Given the description of an element on the screen output the (x, y) to click on. 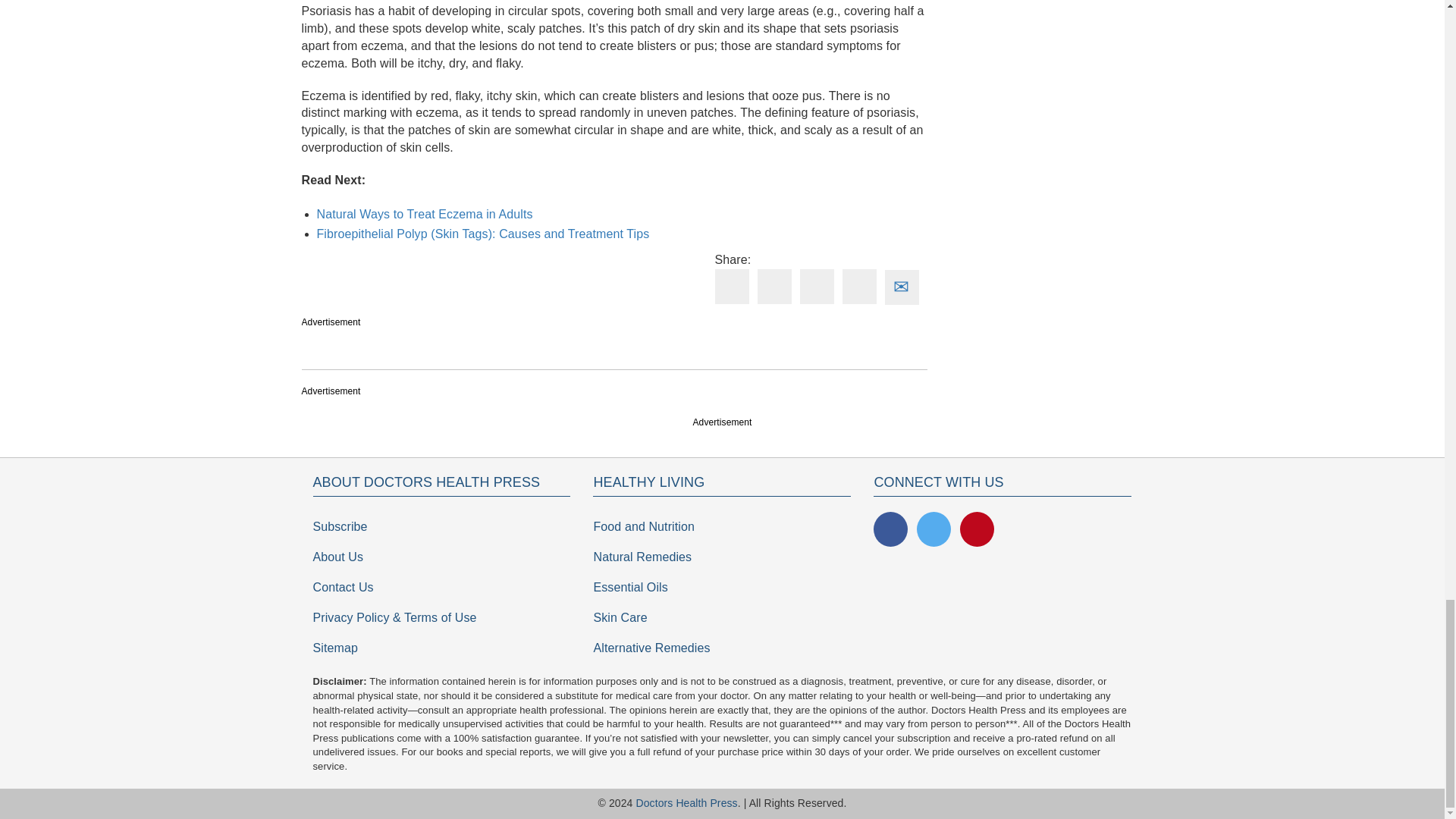
Share by Email (900, 278)
